Given the description of an element on the screen output the (x, y) to click on. 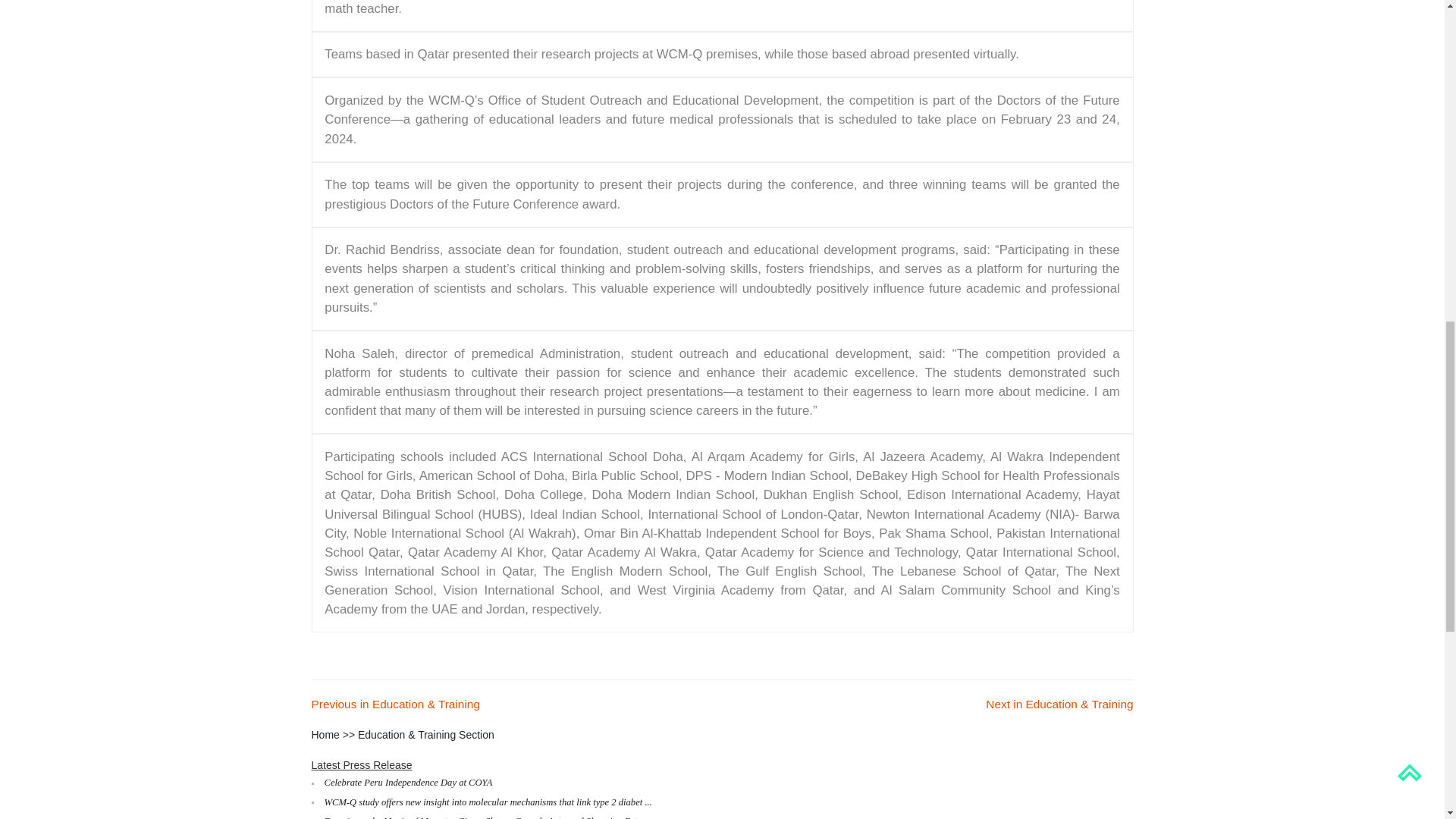
Home (325, 734)
Celebrate Peru Independence Day at COYA (408, 782)
